Given the description of an element on the screen output the (x, y) to click on. 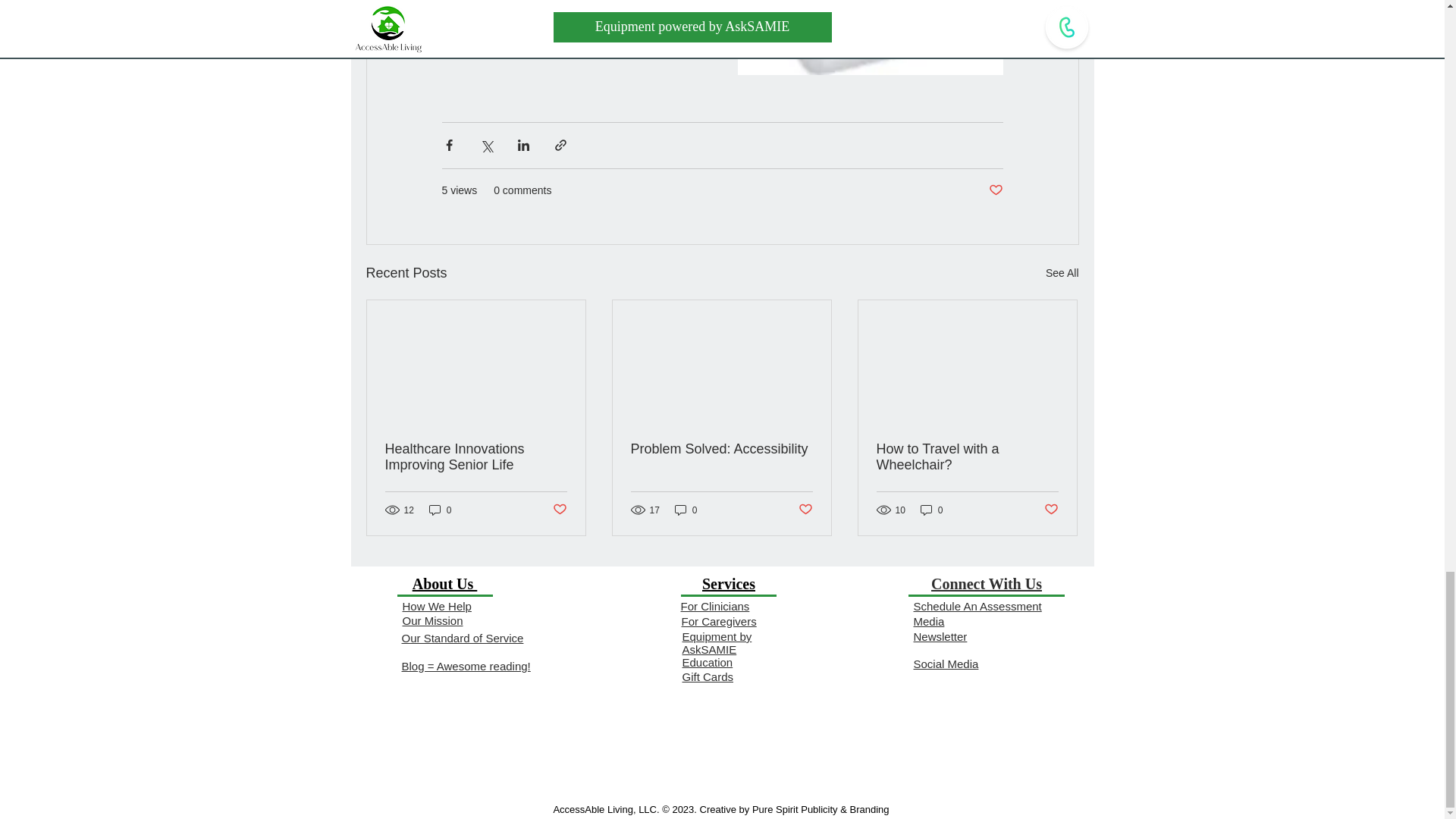
About Us  (444, 583)
Our Standard of Service (462, 637)
0 (440, 509)
Post not marked as liked (995, 190)
See All (1061, 273)
For Clinicians (715, 605)
How We Help (435, 605)
For Caregivers (718, 621)
Our Mission (432, 620)
How to Travel with a Wheelchair? (967, 457)
